Given the description of an element on the screen output the (x, y) to click on. 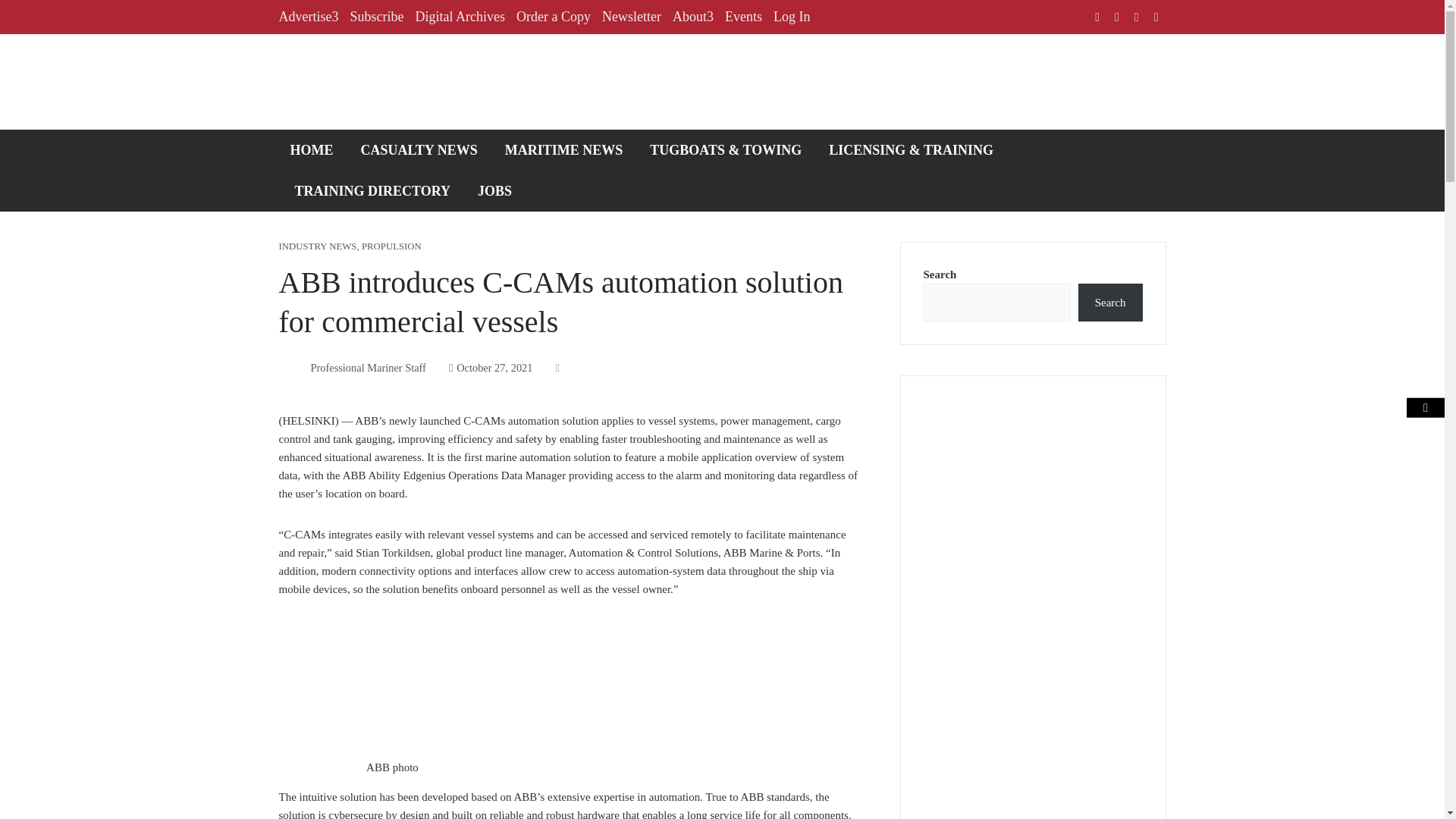
PROPULSION (391, 246)
Order a Copy (553, 17)
HOME (312, 149)
Subscribe (376, 17)
Advertise (309, 17)
CASUALTY NEWS (418, 149)
MARITIME NEWS (563, 149)
Events (743, 17)
About (692, 17)
INDUSTRY NEWS (317, 246)
Newsletter (631, 17)
JOBS (493, 190)
TRAINING DIRECTORY (373, 190)
Digital Archives (458, 17)
Log In (791, 17)
